Given the description of an element on the screen output the (x, y) to click on. 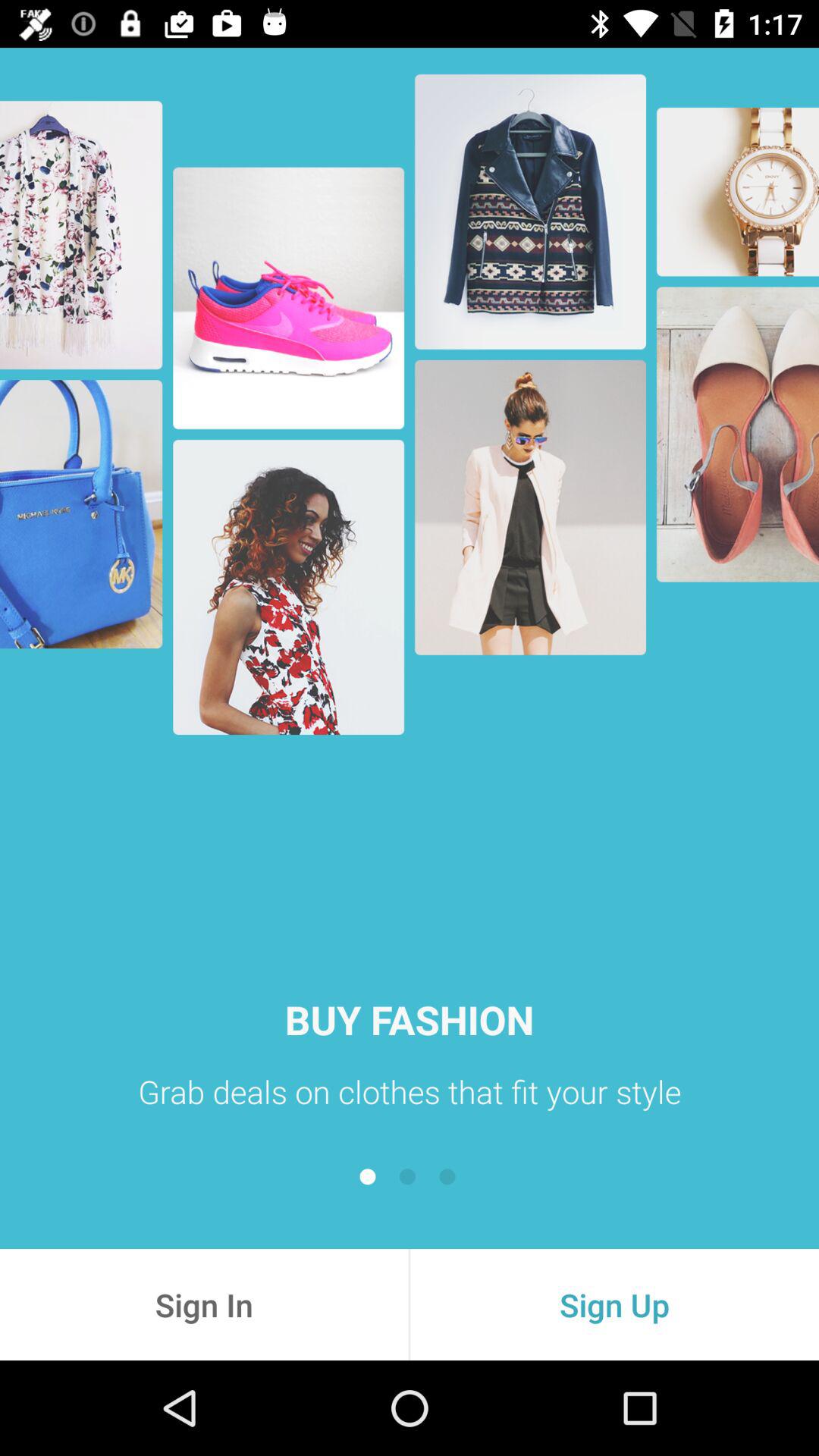
open the item next to the sign up (204, 1304)
